Given the description of an element on the screen output the (x, y) to click on. 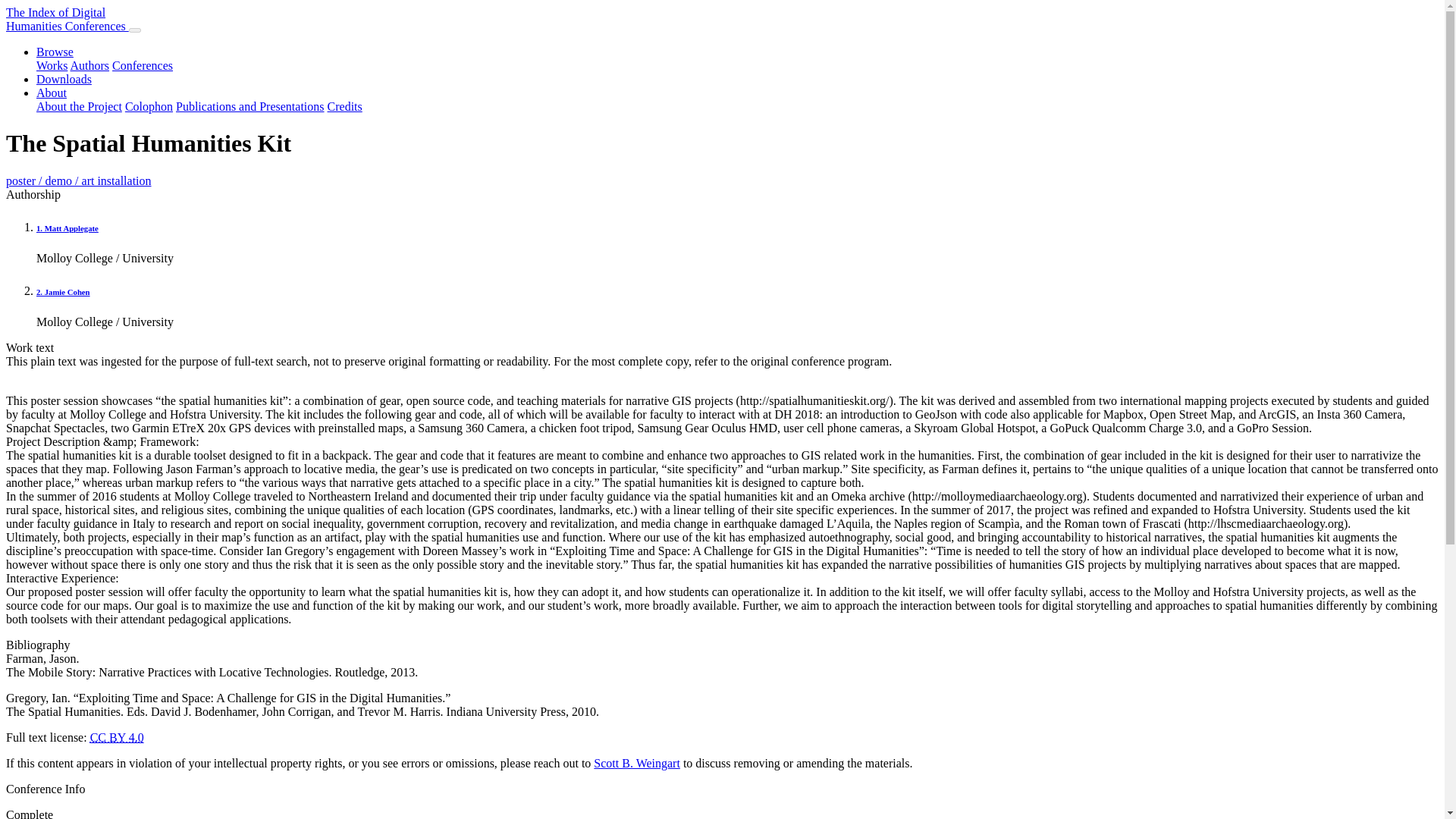
Creative Commons Attribution 4.0 International (117, 737)
Publications and Presentations (250, 106)
Conferences (142, 65)
Scott B. Weingart (67, 18)
About (636, 762)
Works (51, 92)
Credits (51, 65)
Colophon (344, 106)
CC BY 4.0 (149, 106)
